Given the description of an element on the screen output the (x, y) to click on. 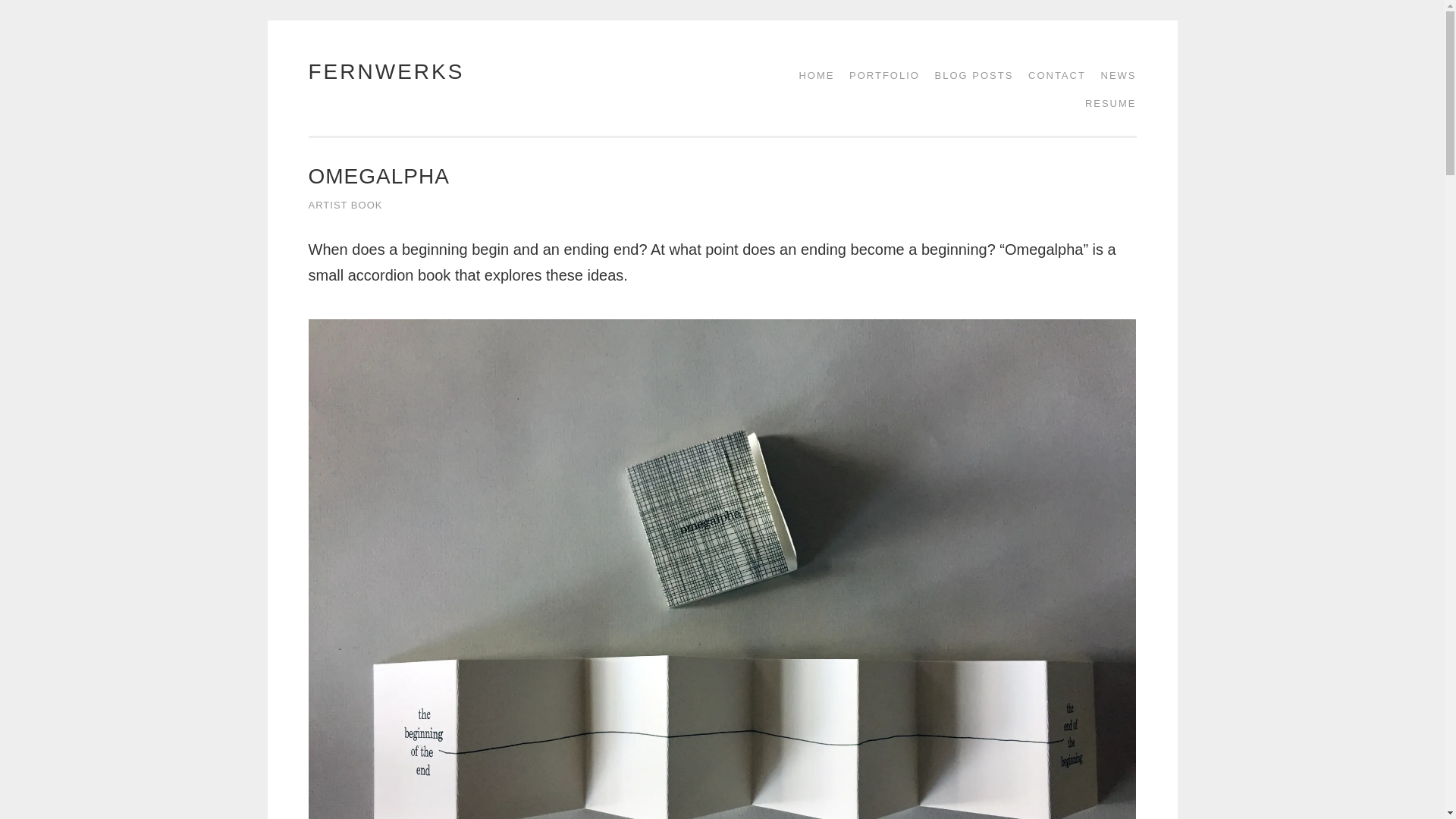
HOME (810, 75)
BLOG POSTS (968, 75)
PORTFOLIO (879, 75)
NEWS (1113, 75)
FERNWERKS (385, 71)
CONTACT (1051, 75)
RESUME (1105, 103)
ARTIST BOOK (344, 204)
